Given the description of an element on the screen output the (x, y) to click on. 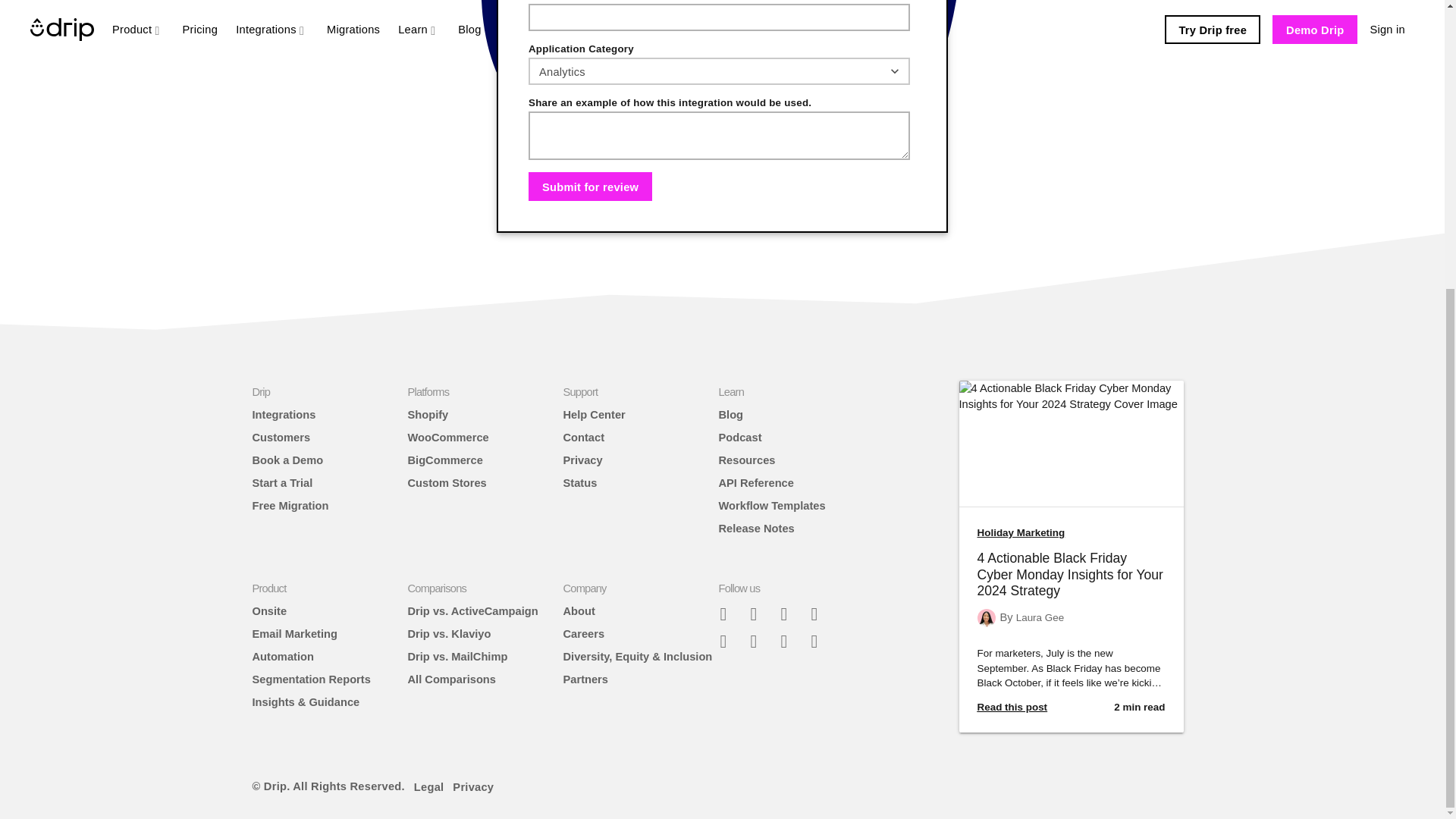
Facebook (759, 613)
Twitter (789, 613)
Linkedin (789, 640)
Submit for review (590, 185)
Tiktok (729, 640)
Instagram (820, 613)
Submit for review (590, 185)
Spotify (759, 640)
YouTube (820, 640)
Slack (729, 613)
Integrations (283, 414)
